Given the description of an element on the screen output the (x, y) to click on. 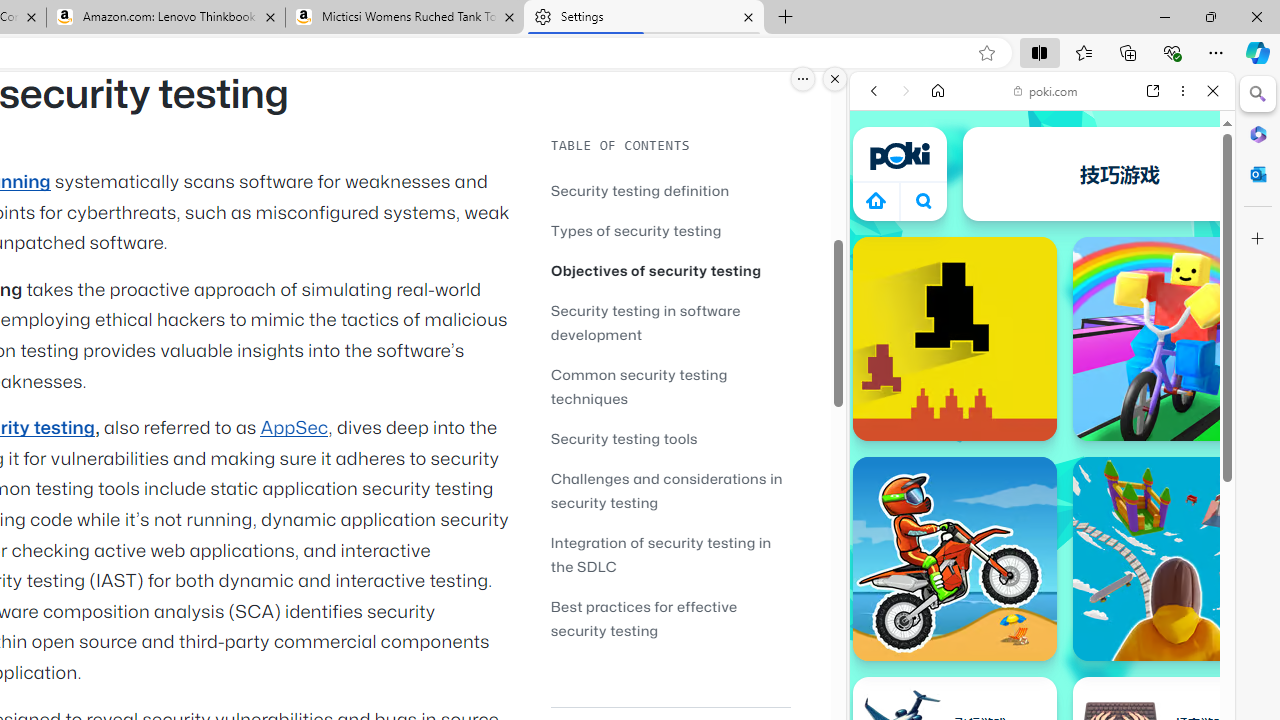
Rainbow Obby Rainbow Obby (1174, 338)
Security testing tools (670, 438)
AppSec (293, 428)
SimplyUp.io (1174, 558)
Io Games (1042, 616)
SimplyUp.io SimplyUp.io (1174, 558)
Show More Io Games (1164, 619)
SimplyUp.io (1174, 558)
Show More Two Player Games (1164, 570)
